Given the description of an element on the screen output the (x, y) to click on. 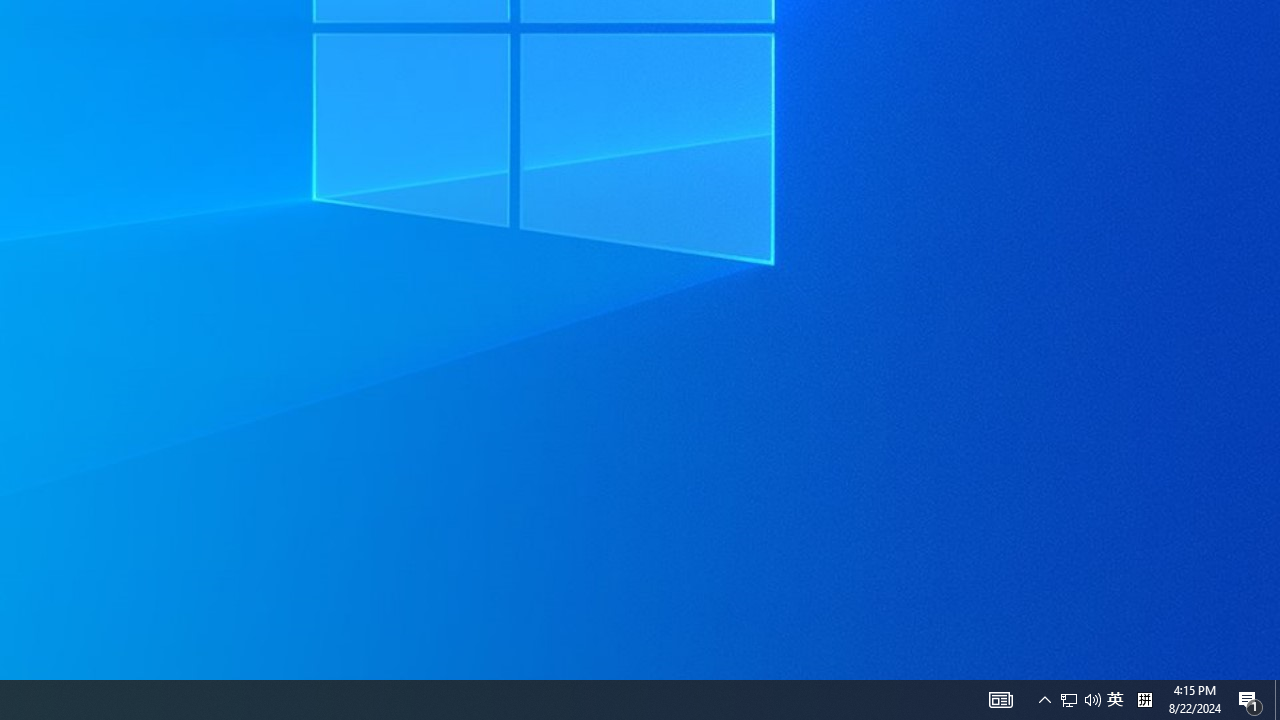
Record your presentations screenshot one (1052, 473)
Record button in top bar (1049, 300)
Zoom 131% (1234, 668)
